Given the description of an element on the screen output the (x, y) to click on. 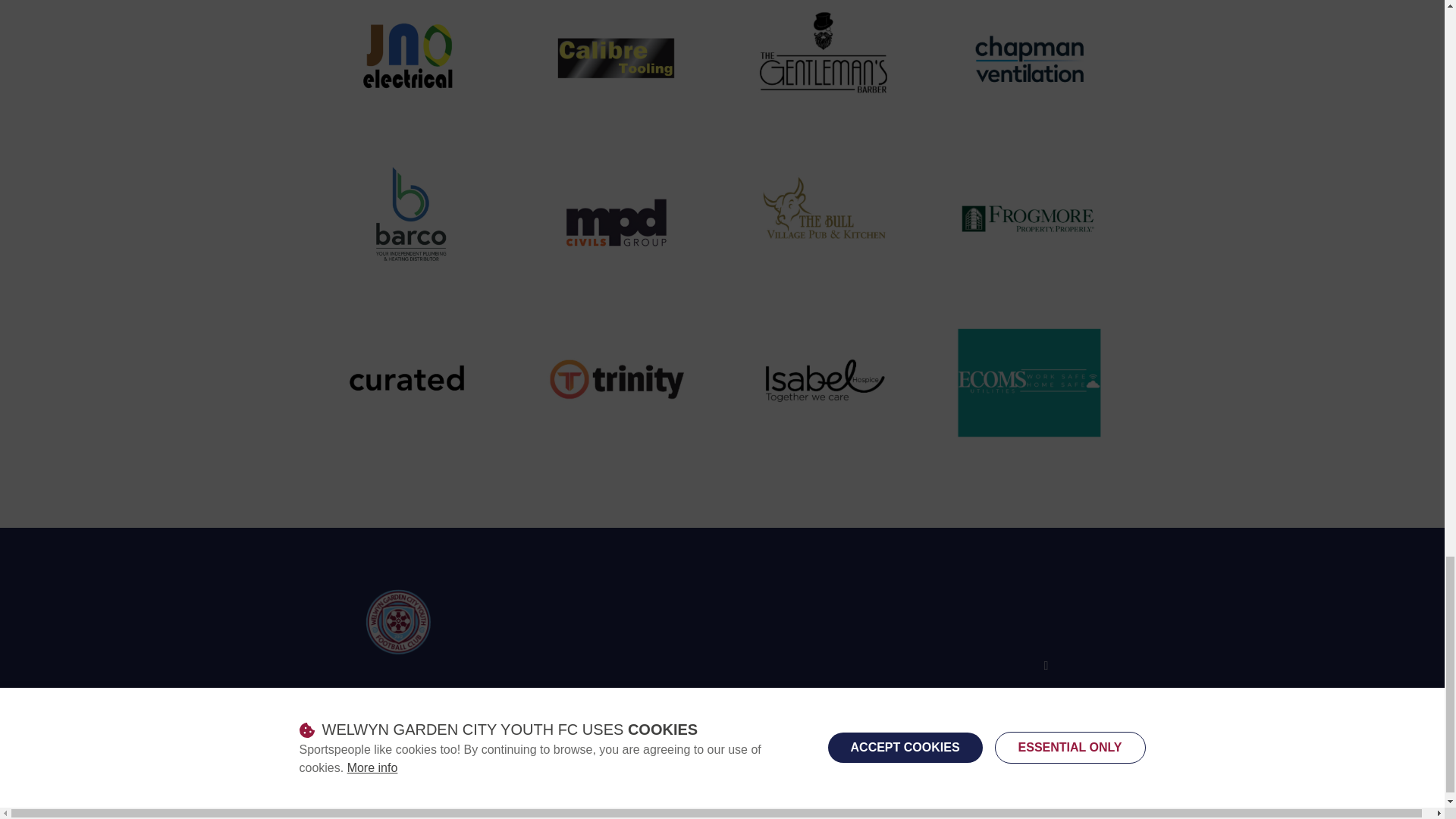
Football Club Management (603, 716)
Free Football Club Websites (769, 716)
